Given the description of an element on the screen output the (x, y) to click on. 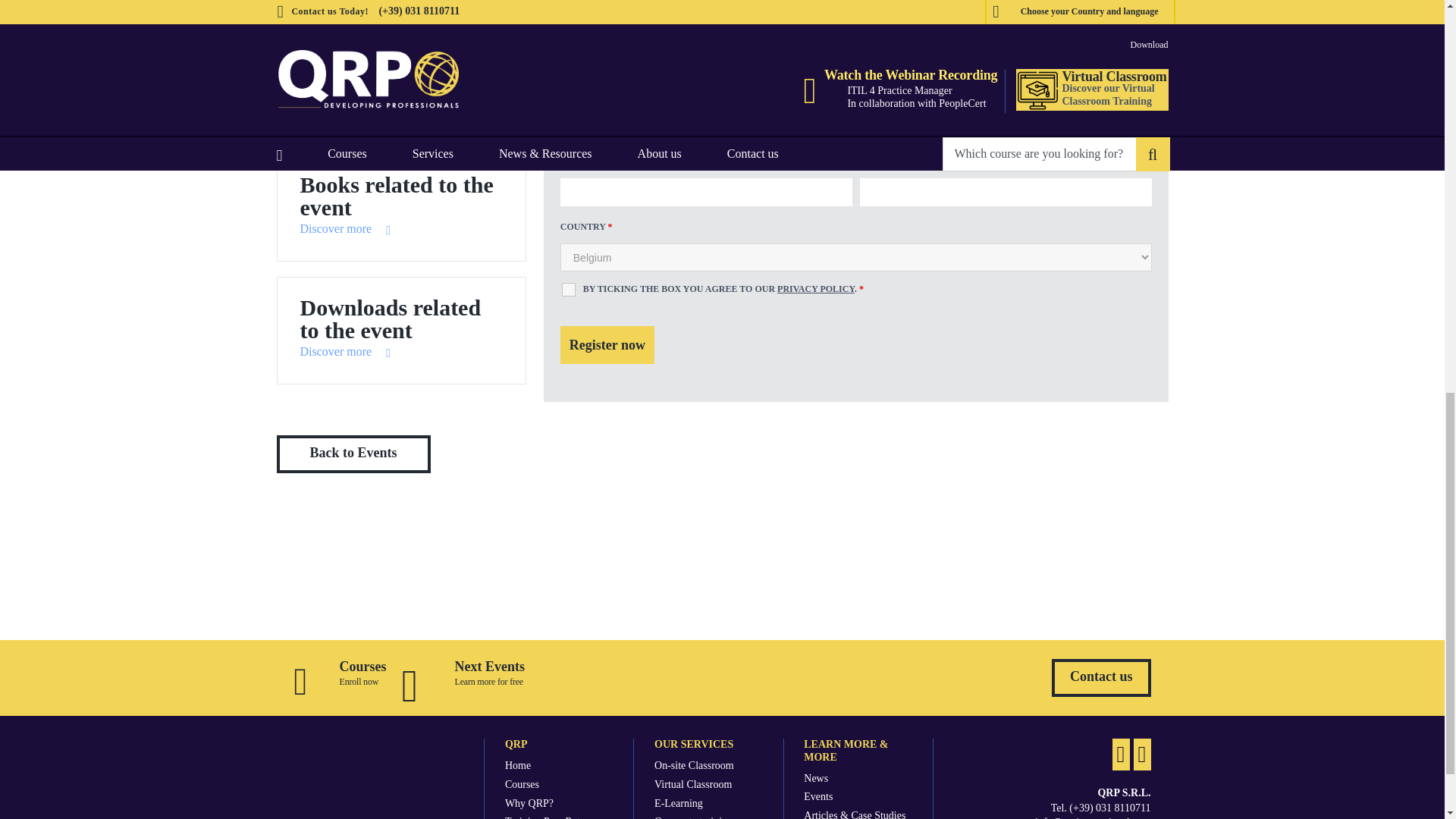
Register now (606, 344)
